Given the description of an element on the screen output the (x, y) to click on. 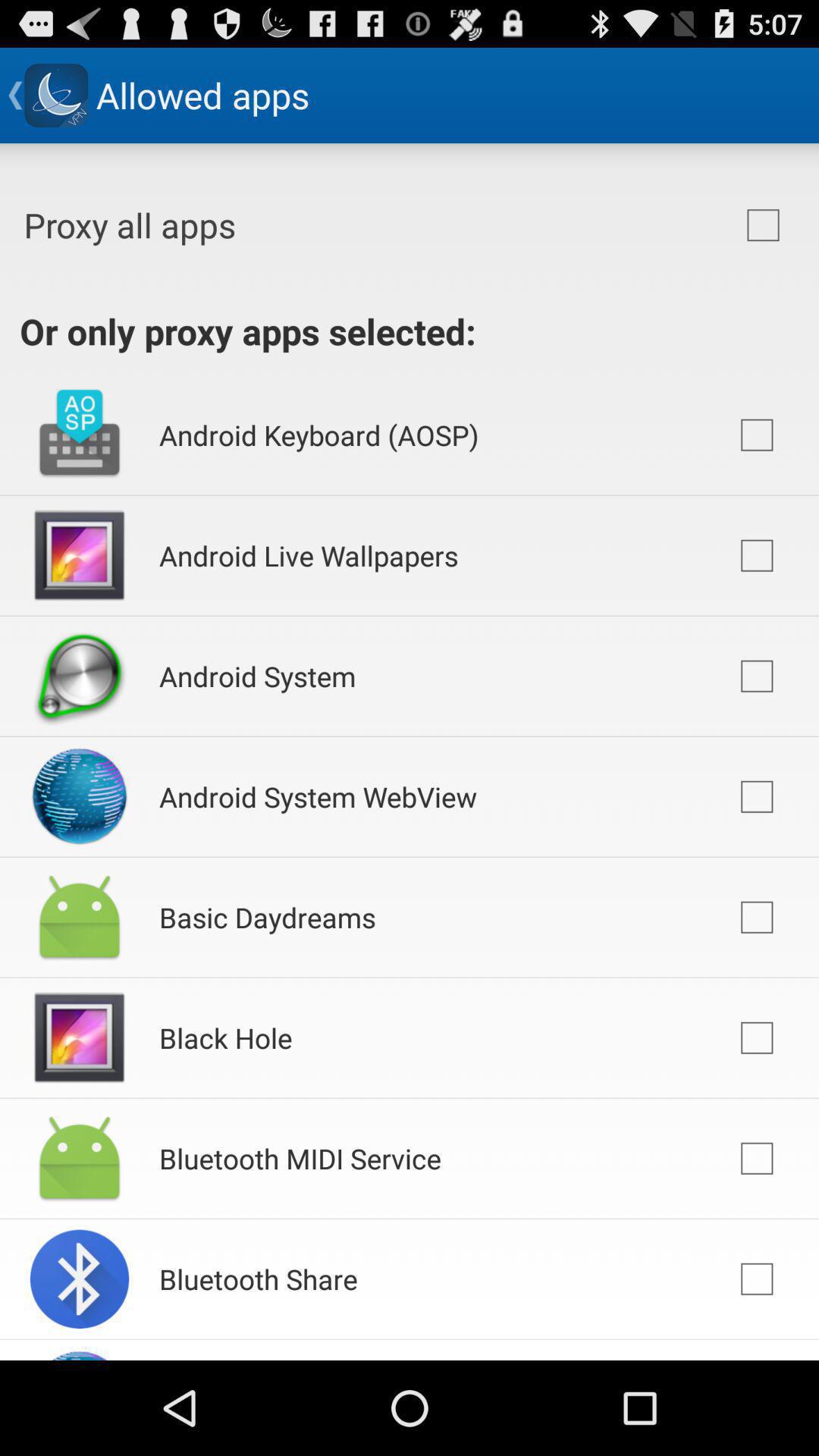
press icon above android system icon (308, 555)
